Given the description of an element on the screen output the (x, y) to click on. 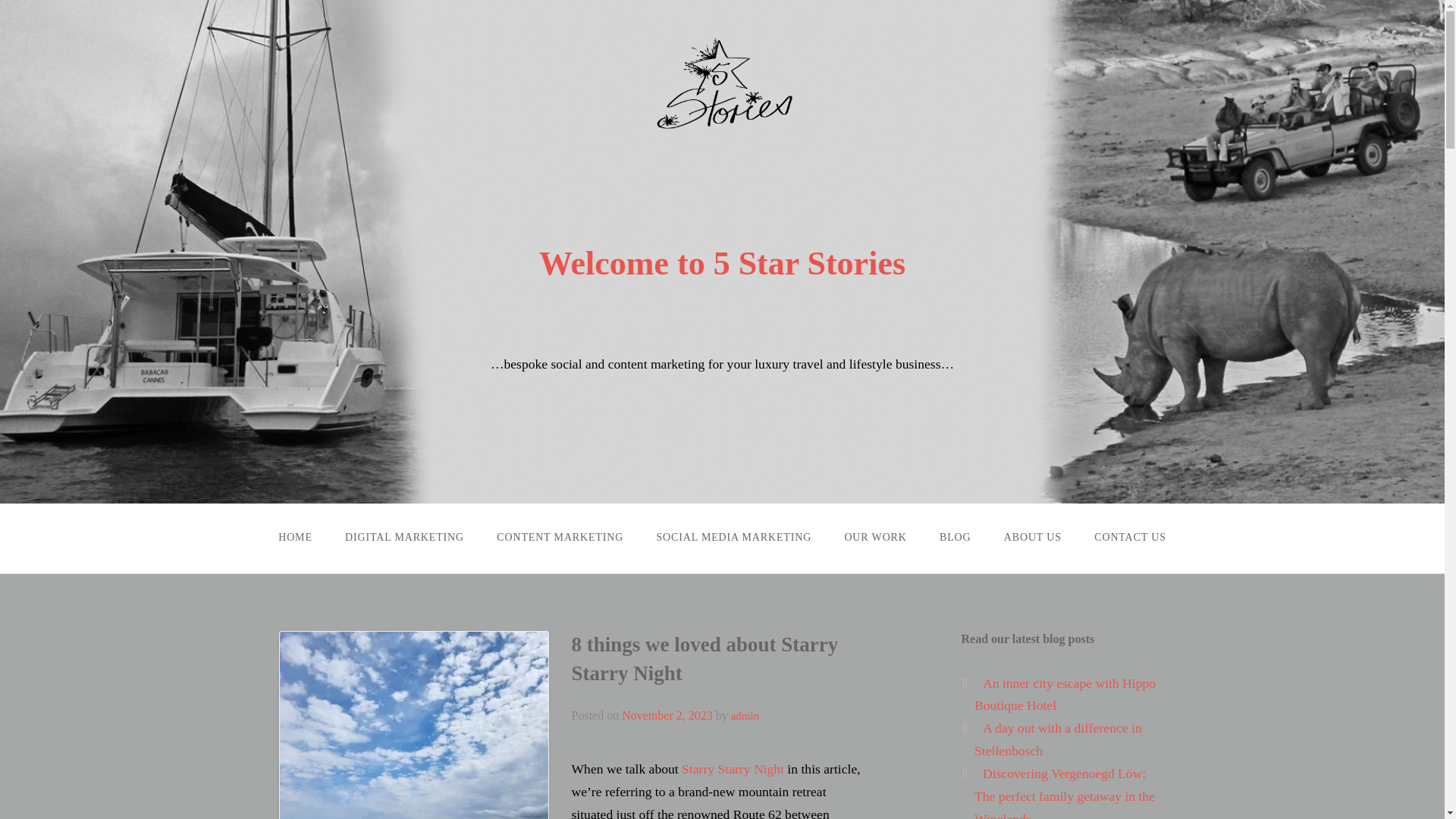
A day out with a difference in Stellenbosch (1057, 739)
BLOG (955, 536)
DIGITAL MARKETING (404, 536)
HOME (295, 536)
admin (745, 715)
CONTACT US (1130, 536)
ABOUT US (1032, 536)
Starry Starry Night (732, 768)
An inner city escape with Hippo Boutique Hotel (1065, 694)
Welcome to 5 Star Stories (721, 262)
